Given the description of an element on the screen output the (x, y) to click on. 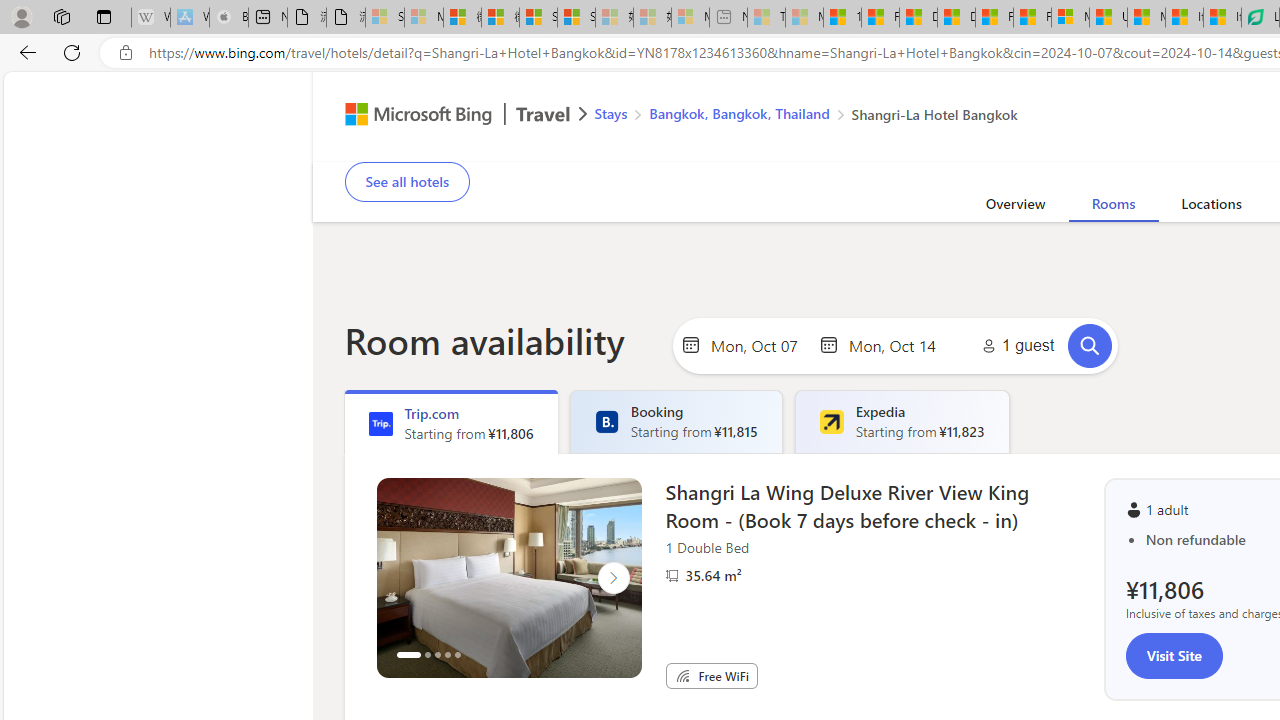
Bangkok, Bangkok, Thailand (738, 112)
TripDotCom (380, 423)
Microsoft Bing Travel (445, 116)
Partner Image (671, 575)
Visit Site (1173, 655)
2,234 Booking.com reviews (493, 128)
Buy iPad - Apple - Sleeping (228, 17)
Booking (606, 421)
1 guest (1014, 345)
Conference rooms (1168, 148)
Start Date (759, 344)
Free WiFi (682, 676)
